Given the description of an element on the screen output the (x, y) to click on. 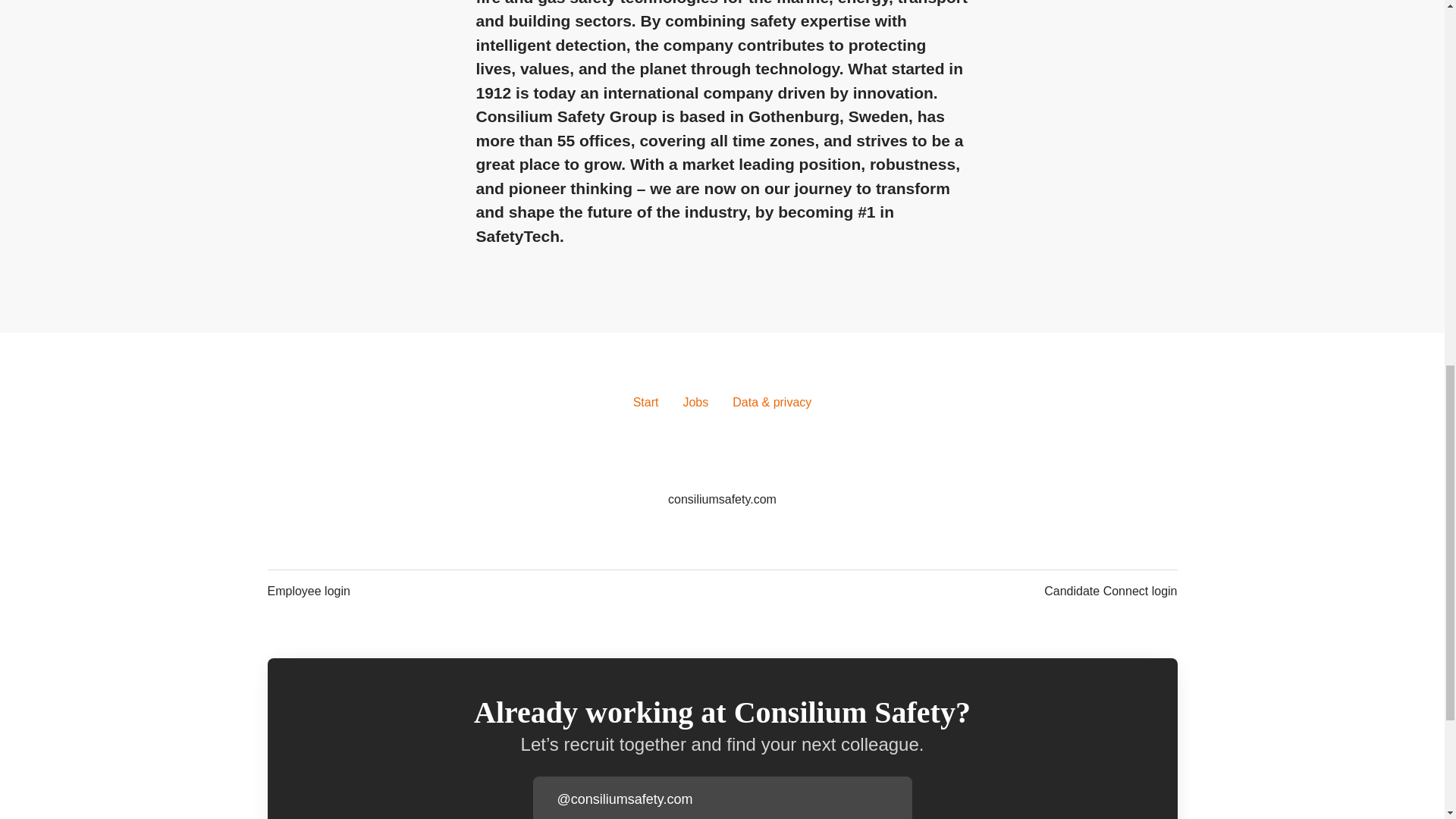
Log in (899, 799)
consiliumsafety.com (722, 499)
Employee login (307, 591)
Jobs (694, 402)
Candidate Connect login (1109, 591)
Start (646, 402)
